Given the description of an element on the screen output the (x, y) to click on. 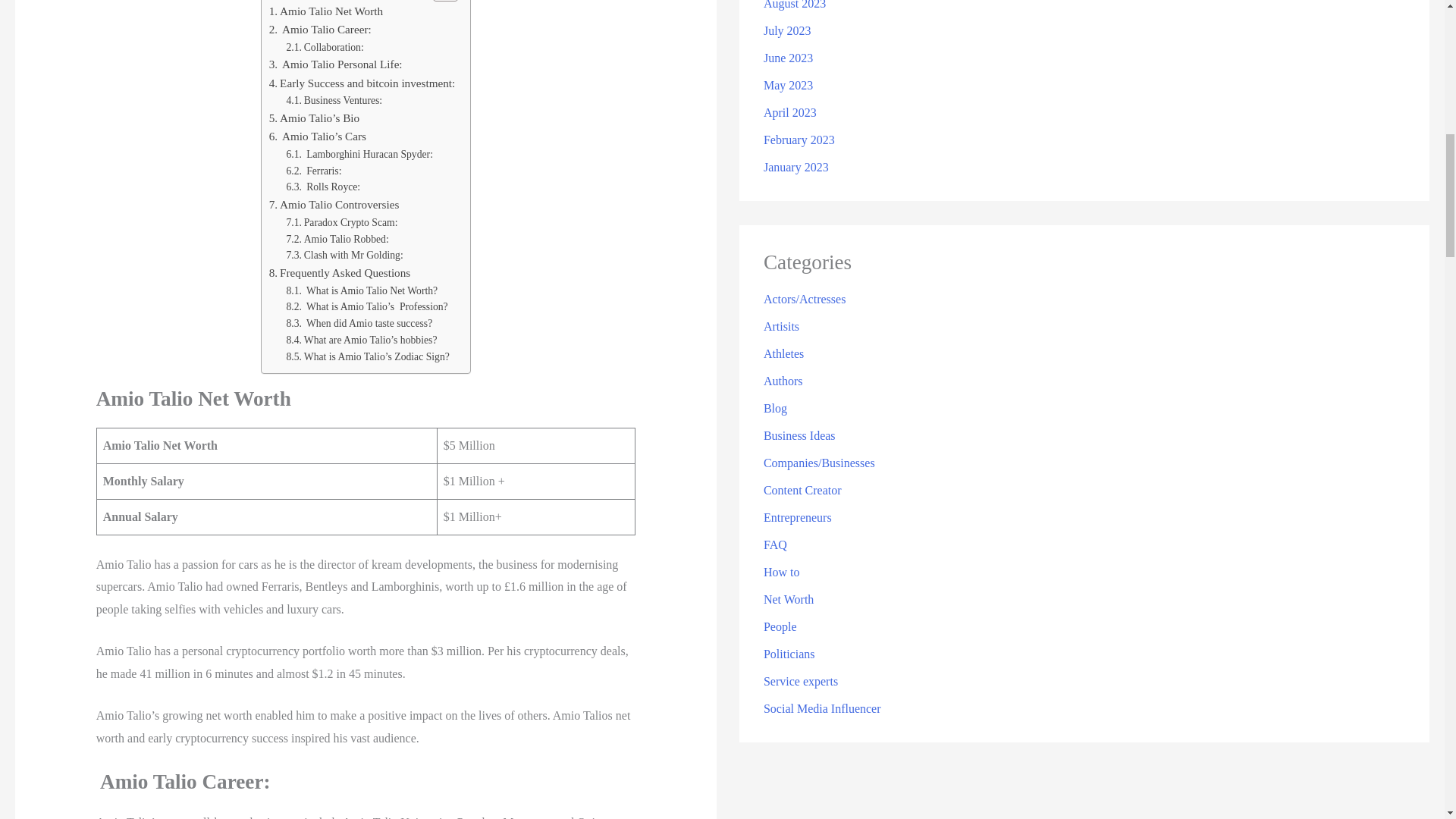
 Amio Talio Career: (320, 29)
Collaboration: (323, 47)
Amio Talio Net Worth  (327, 11)
Collaboration: (323, 47)
Amio Talio Robbed: (336, 238)
Paradox Crypto Scam: (341, 222)
Amio Talio Controversies (333, 204)
Business Ventures: (333, 100)
Early Success and bitcoin investment: (362, 83)
